Given the description of an element on the screen output the (x, y) to click on. 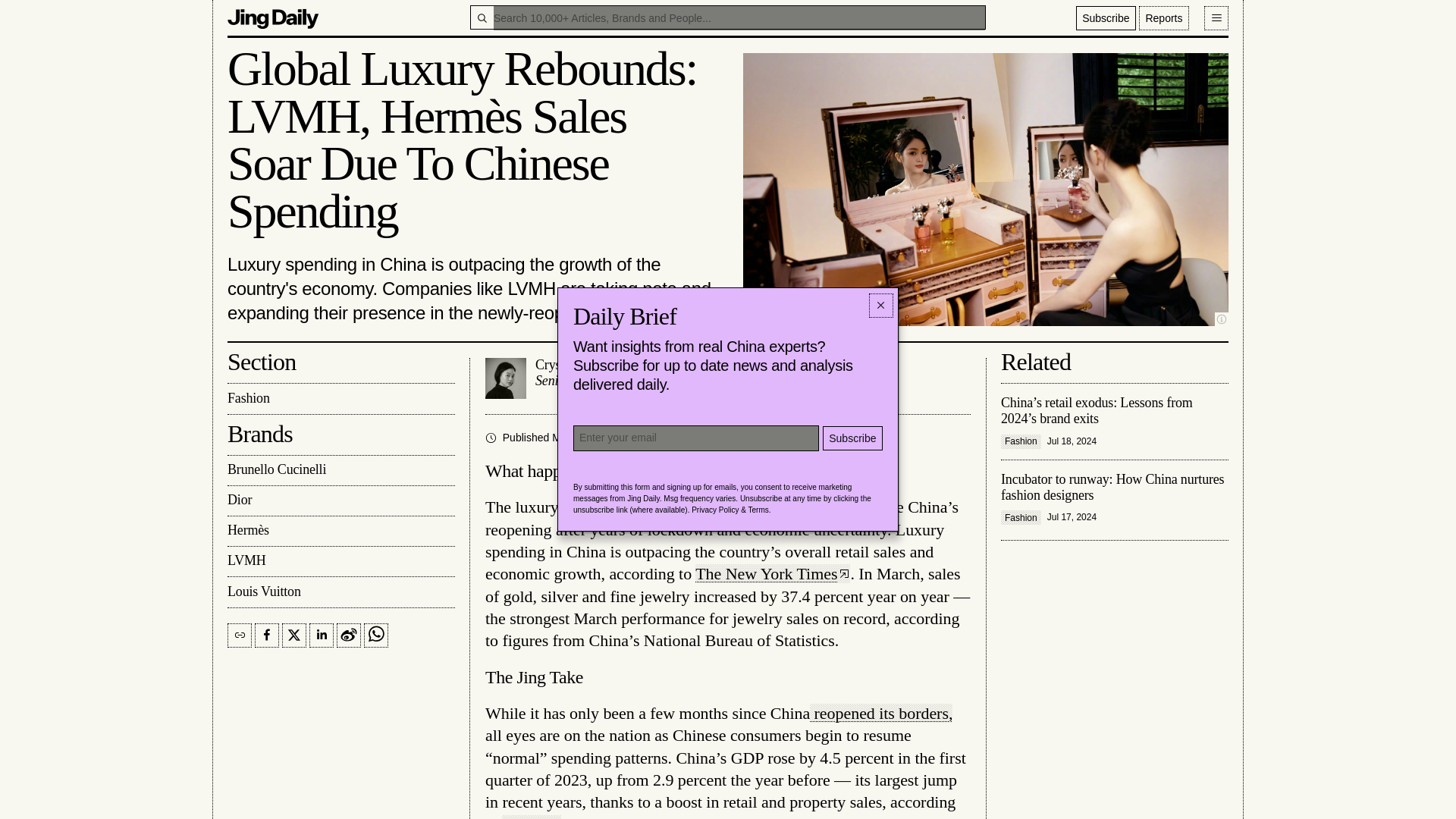
Jing Daily (582, 377)
Louis Vuitton (272, 17)
Subscribe (340, 592)
LVMH (1105, 17)
Incubator to runway: How China nurtures fashion designers (340, 562)
Fashion (1114, 498)
Crystal Tai (652, 437)
LVMH (582, 377)
reopened its borders, (340, 562)
Dior (880, 712)
reports (340, 501)
Dior (531, 816)
Reports (340, 501)
